Given the description of an element on the screen output the (x, y) to click on. 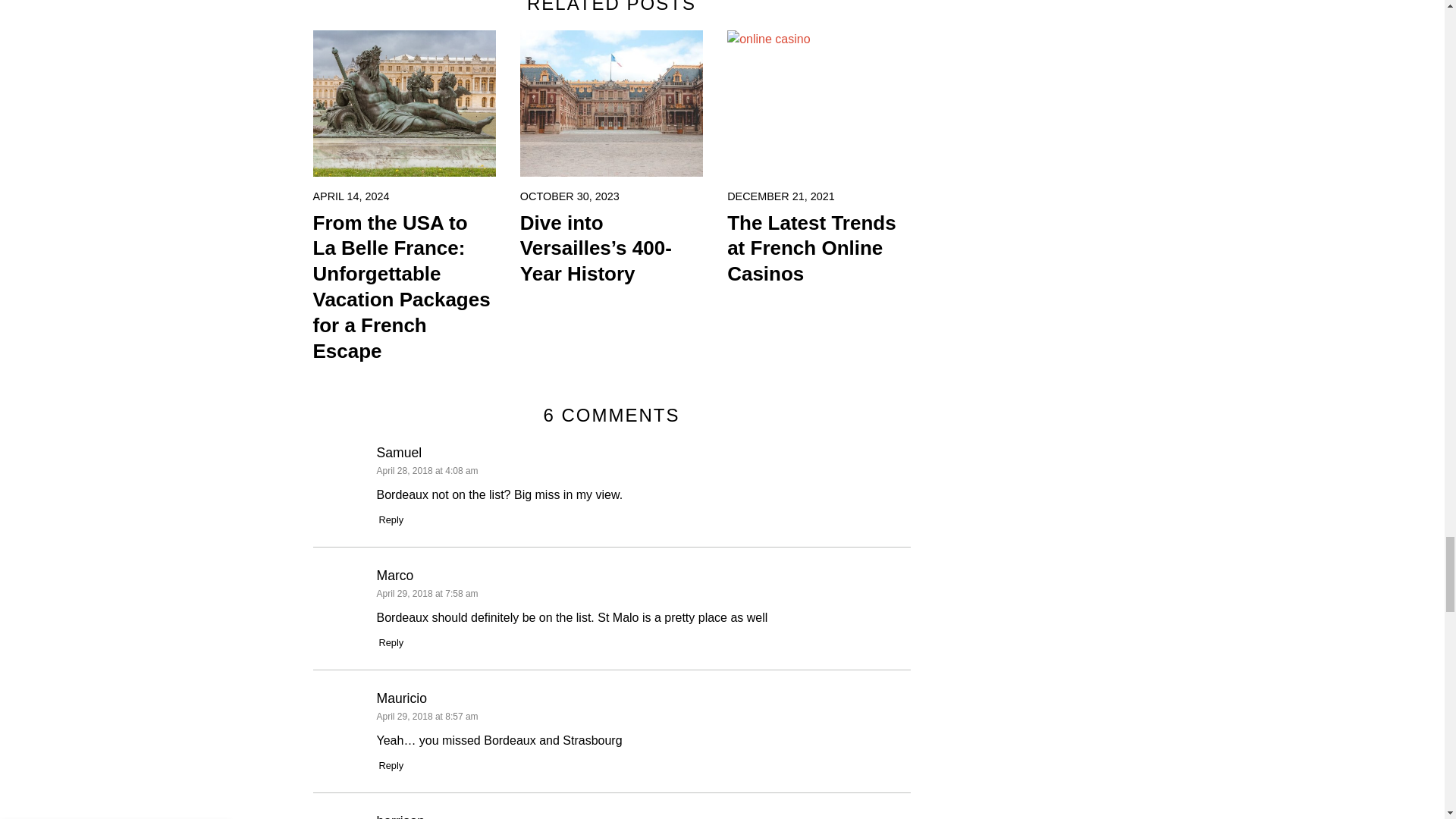
30 Oct, 2023 23:52:25 (569, 196)
14 Apr, 2024 22:38:13 (350, 196)
21 Dec, 2021 10:12:31 (780, 196)
